Given the description of an element on the screen output the (x, y) to click on. 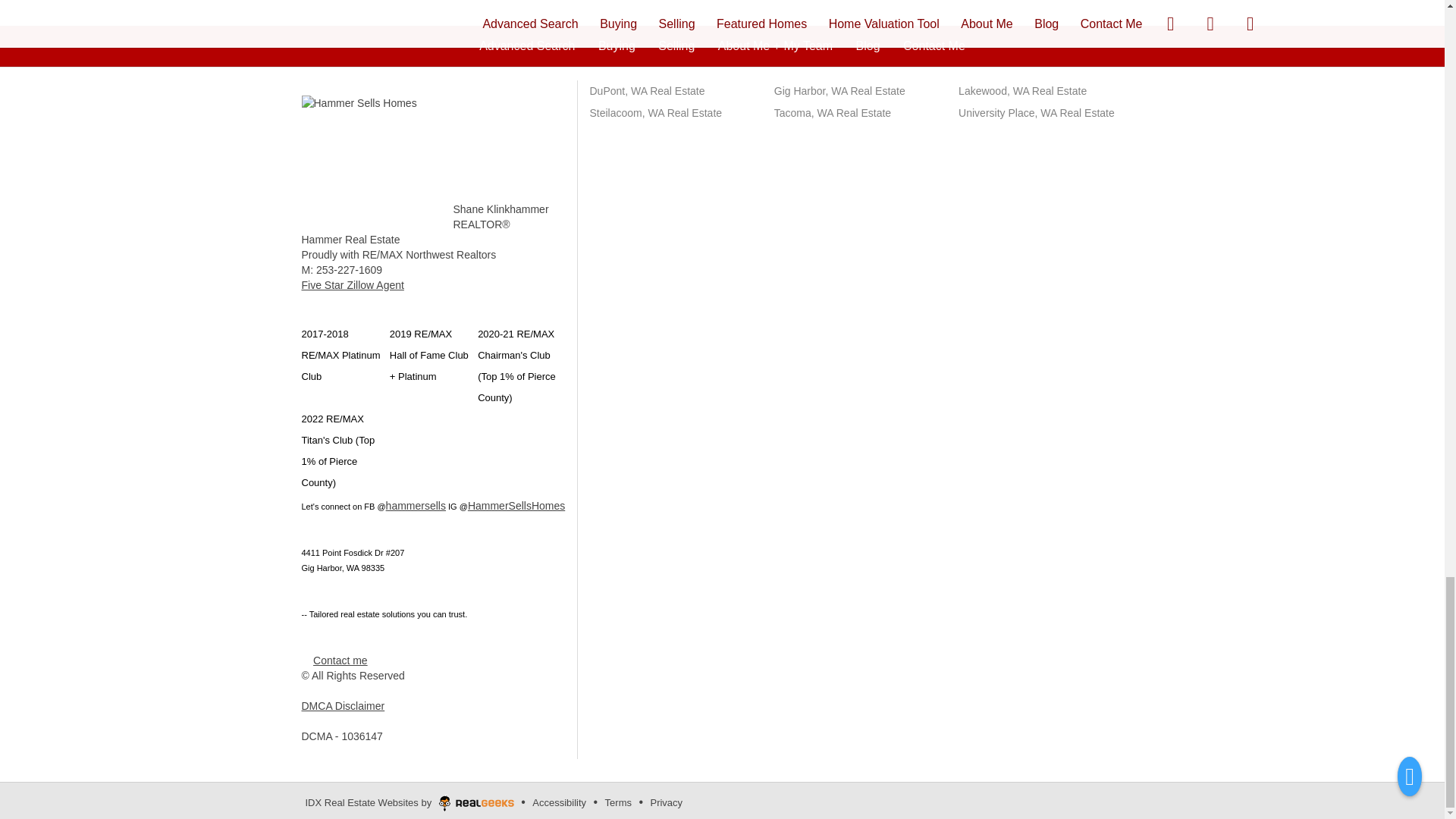
Shane Klinkhammer Facebook (415, 505)
Shane Klinkhammer Zillow Agent (352, 285)
Contact me (340, 660)
Shane Klinkhammer Instagram (515, 505)
